Given the description of an element on the screen output the (x, y) to click on. 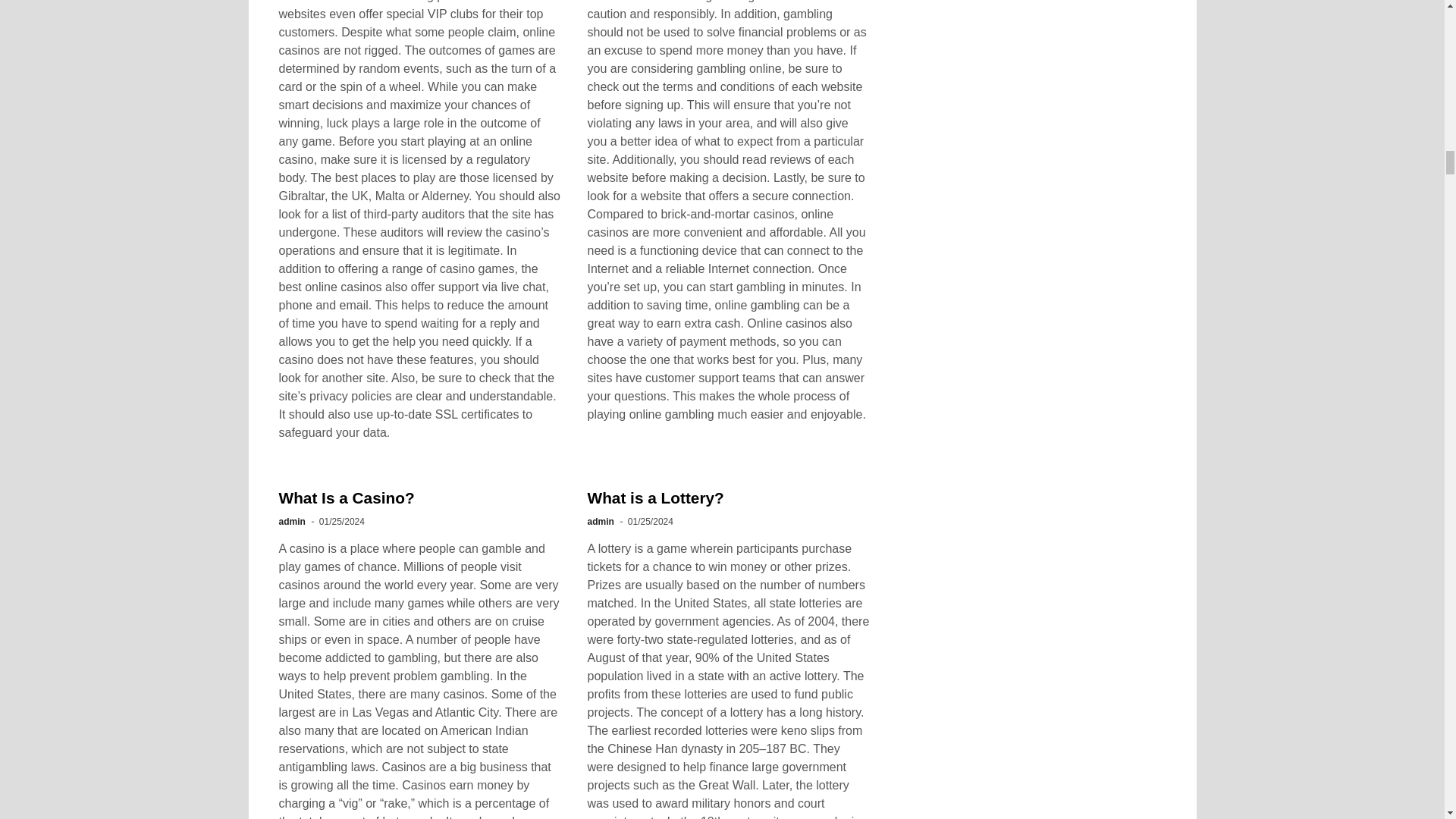
What Is a Casino? (346, 497)
admin (292, 521)
What is a Lottery? (654, 497)
admin (599, 521)
